Given the description of an element on the screen output the (x, y) to click on. 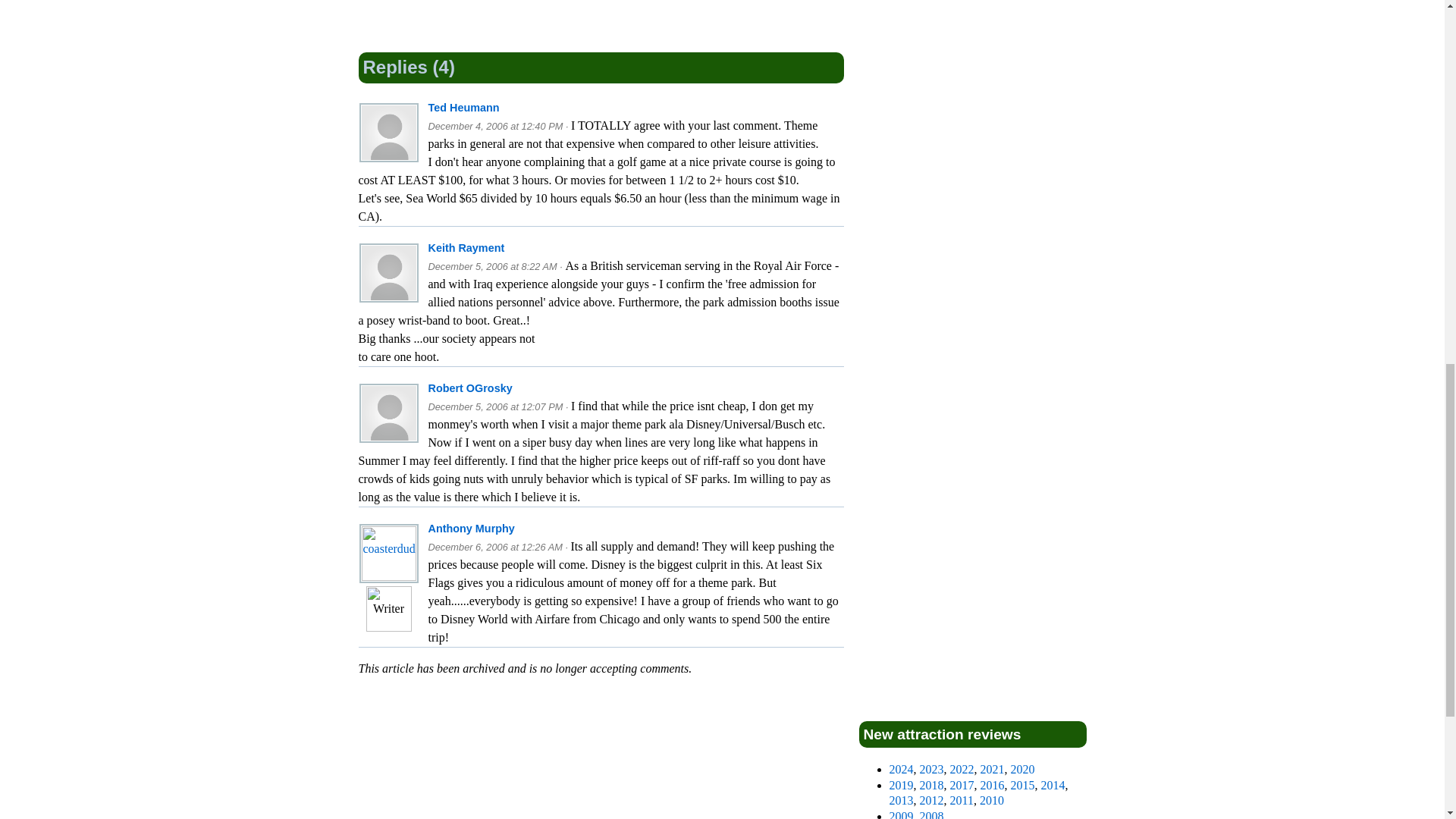
Keith Rayment (465, 247)
Ted Heumann (463, 107)
Anthony Murphy (470, 528)
Robert OGrosky (470, 387)
